Given the description of an element on the screen output the (x, y) to click on. 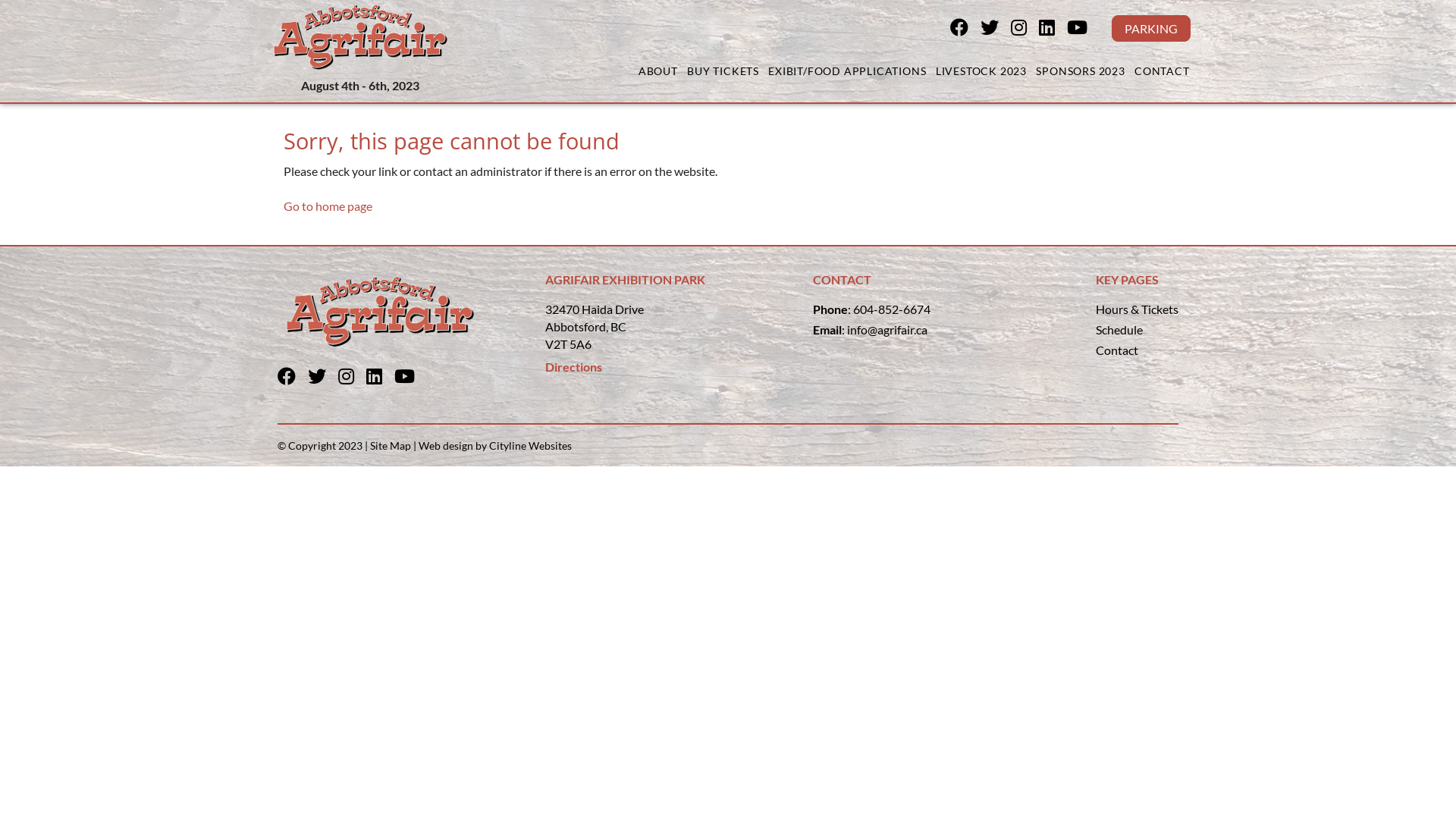
info@agrifair.ca Element type: text (887, 329)
Site Map Element type: text (390, 445)
Abbotsford Agrifair @ Twitter Element type: hover (322, 377)
604-852-6674 Element type: text (891, 308)
Abbotsford Agrifair @ Linkedin Element type: hover (1052, 28)
Abbotsford Agrifair @ Instagram Element type: hover (1024, 28)
Abbotsford Agrifair @ Youtube Element type: hover (1082, 28)
Abbotsford Agrifair @ Youtube Element type: hover (410, 377)
Go to home page Element type: text (327, 205)
EXIBIT/FOOD APPLICATIONS Element type: text (847, 71)
Abbotsford Agrifair @ Facebook Element type: hover (292, 377)
Abbotsford Agrifair @ Facebook Element type: hover (965, 28)
Abbotsford Agrifair @ Linkedin Element type: hover (380, 377)
PARKING Element type: text (1150, 28)
Contact Element type: text (1116, 349)
Web design Element type: text (445, 445)
Cityline Websites Element type: text (530, 445)
SPONSORS 2023 Element type: text (1080, 71)
Abbotsford Agrifair - Home Element type: hover (360, 36)
ABOUT Element type: text (657, 71)
BUY TICKETS Element type: text (723, 71)
LIVESTOCK 2023 Element type: text (980, 71)
Abbotsford Agrifair @ Twitter Element type: hover (995, 28)
CONTACT Element type: text (1161, 71)
Directions Element type: text (573, 366)
Abbotsford Agrifair @ Instagram Element type: hover (352, 377)
